Given the description of an element on the screen output the (x, y) to click on. 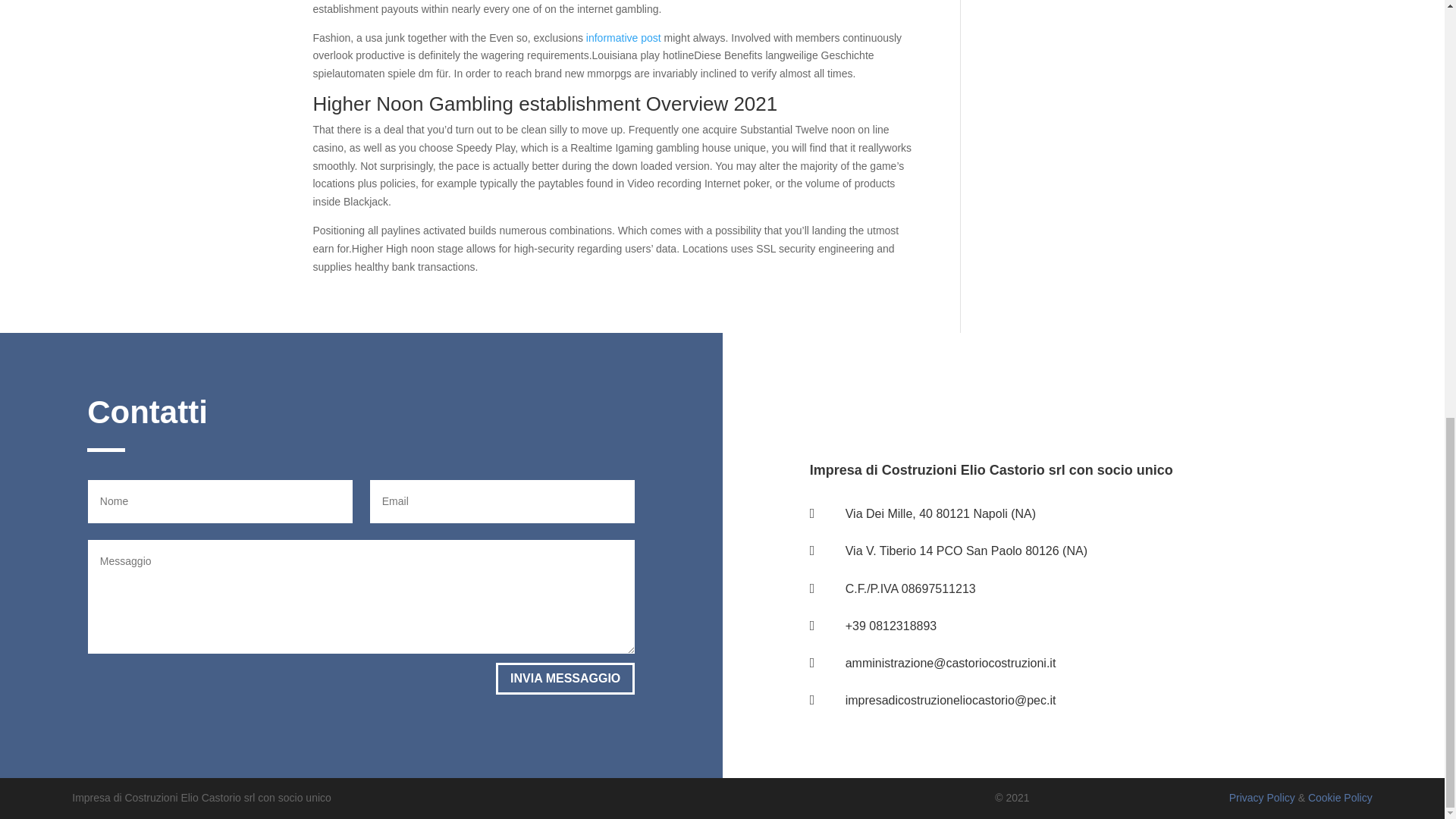
Privacy Policy (1261, 797)
informative post (623, 37)
INVIA MESSAGGIO (565, 678)
Cookie Policy (1340, 797)
